Given the description of an element on the screen output the (x, y) to click on. 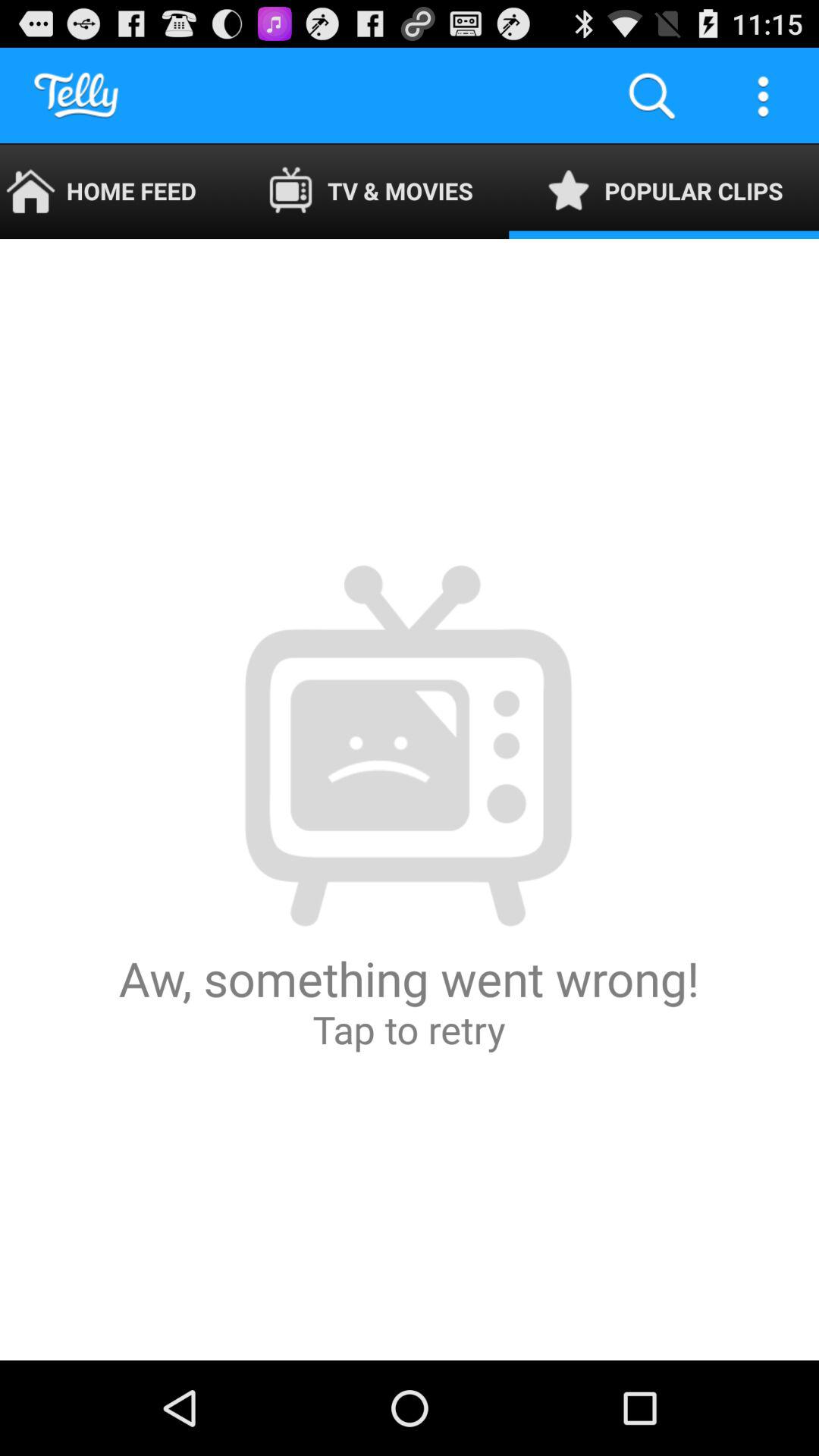
choose the item at the top (370, 190)
